Given the description of an element on the screen output the (x, y) to click on. 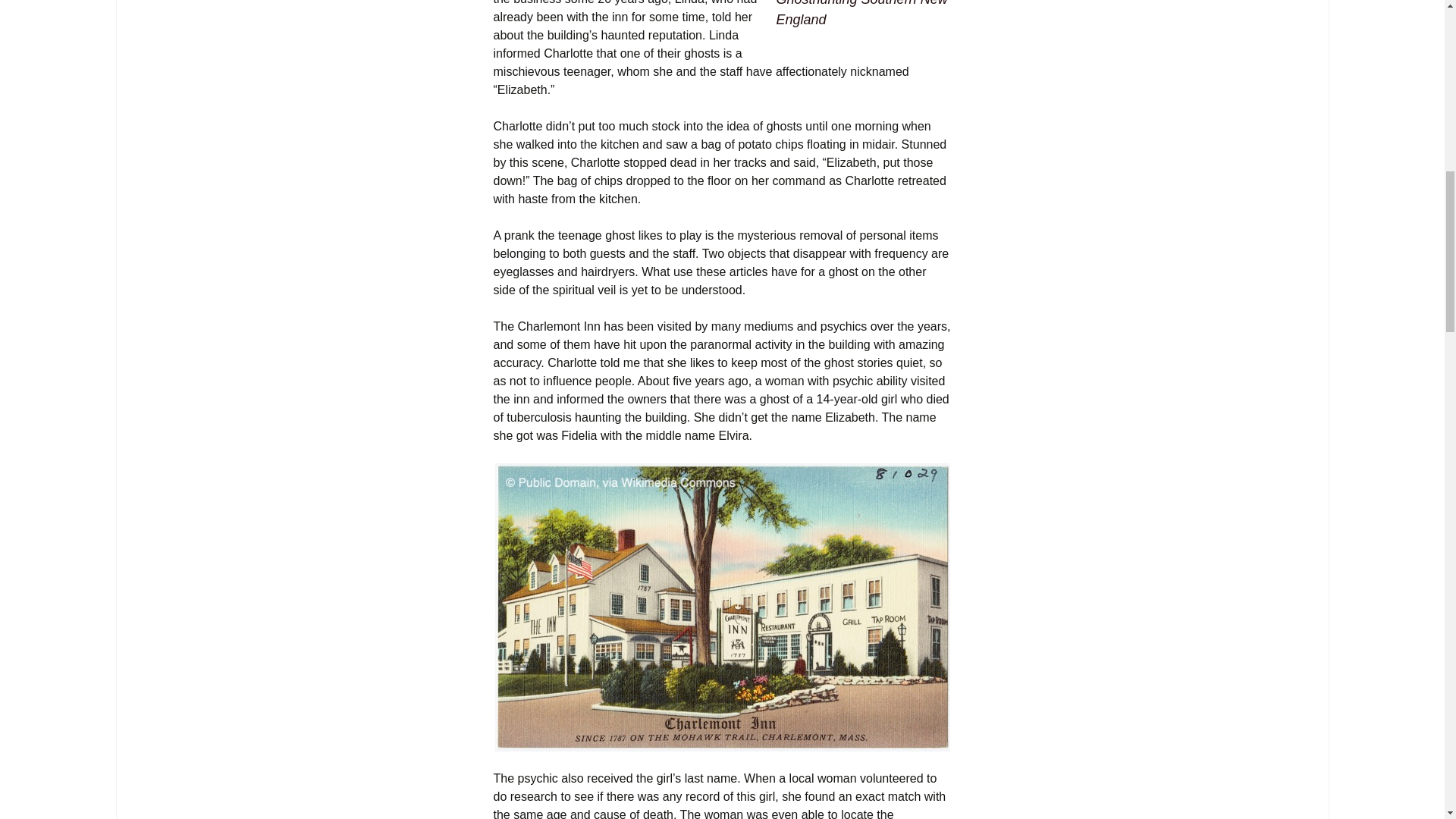
Page 80 (721, 794)
